Given the description of an element on the screen output the (x, y) to click on. 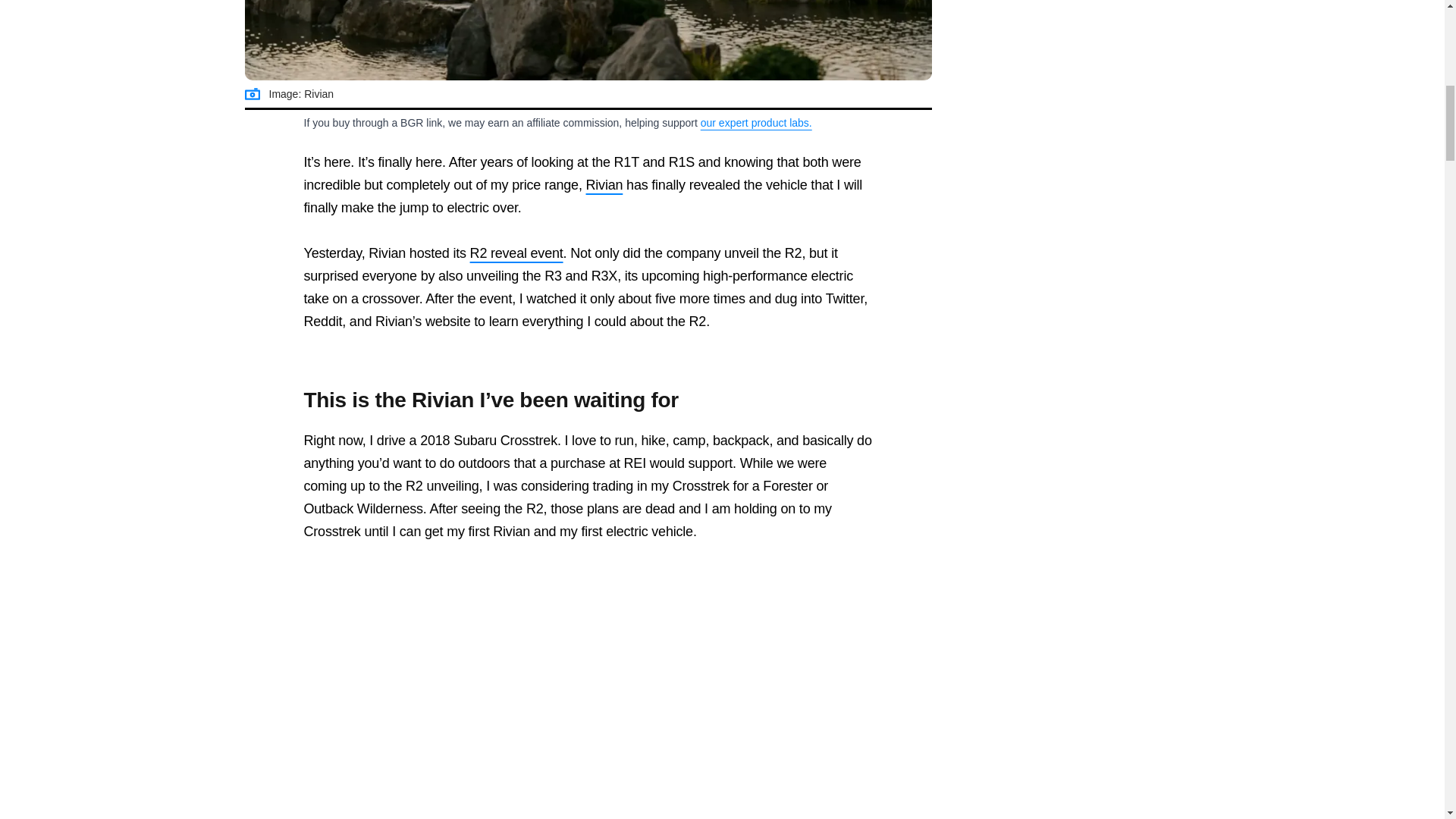
Rivian R2 (587, 40)
